Given the description of an element on the screen output the (x, y) to click on. 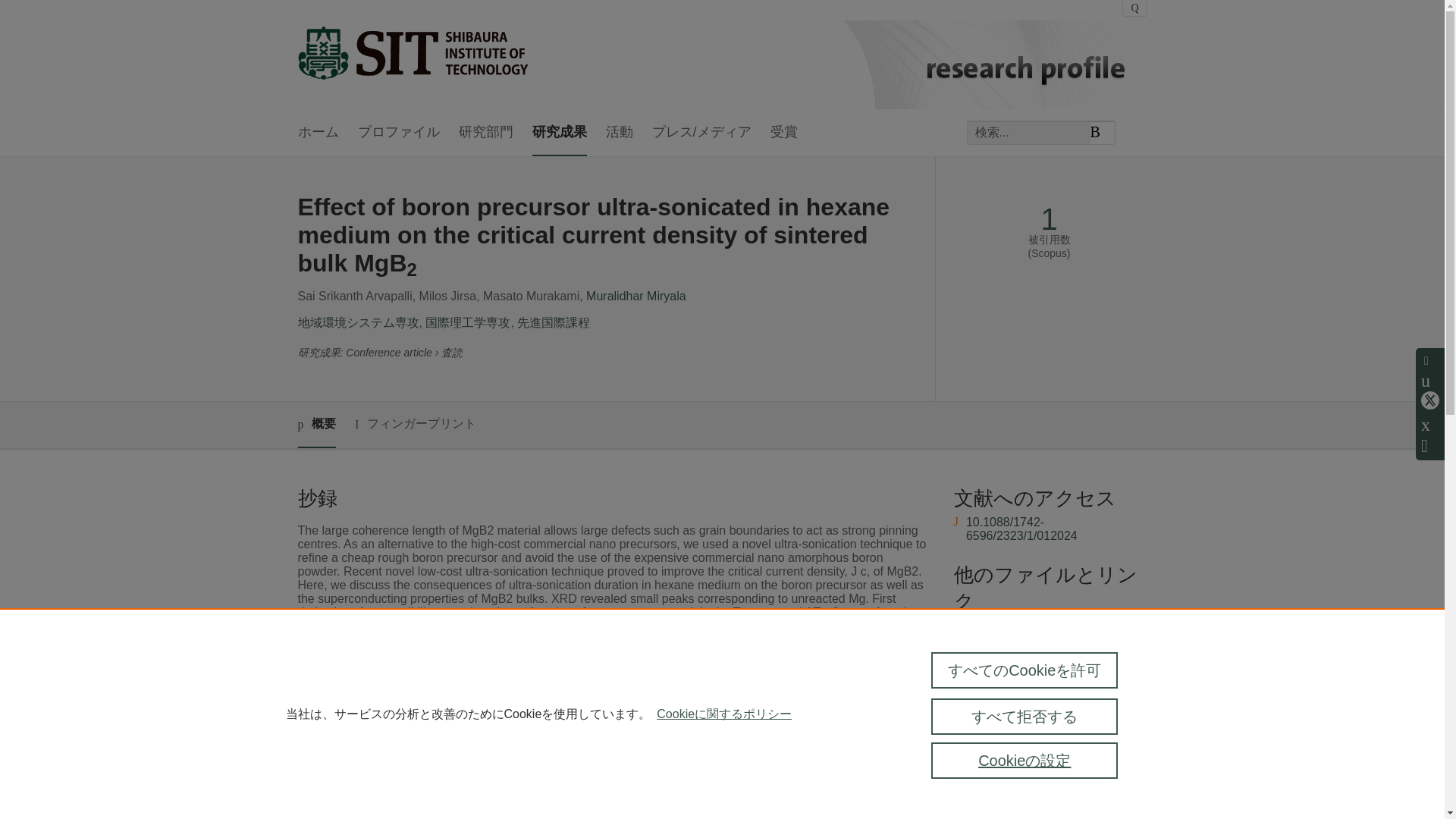
Journal of Physics: Conference Series (609, 757)
Muralidhar Miryala (635, 295)
1 (1049, 219)
